Given the description of an element on the screen output the (x, y) to click on. 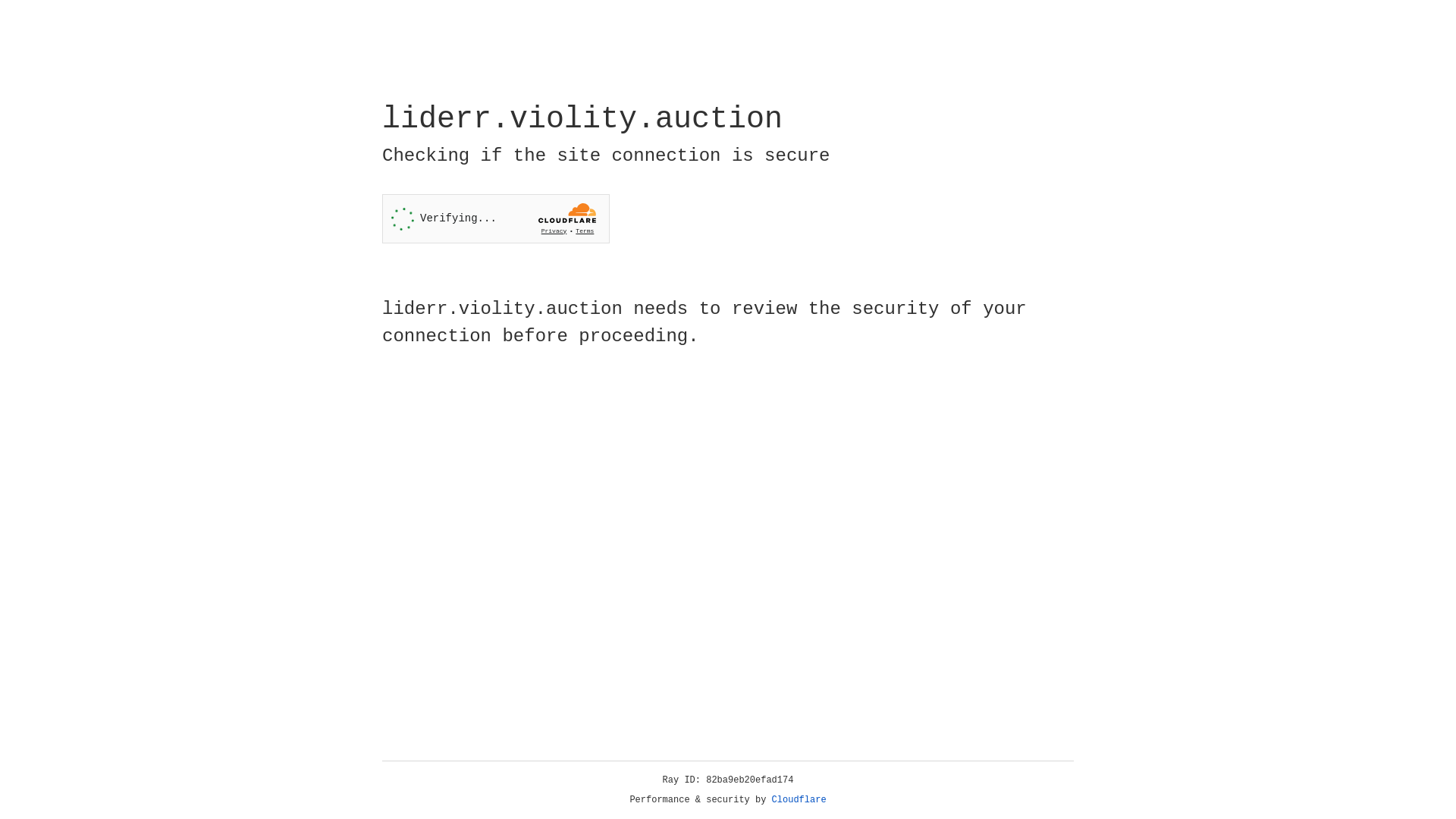
Widget containing a Cloudflare security challenge Element type: hover (495, 218)
Cloudflare Element type: text (798, 799)
